Given the description of an element on the screen output the (x, y) to click on. 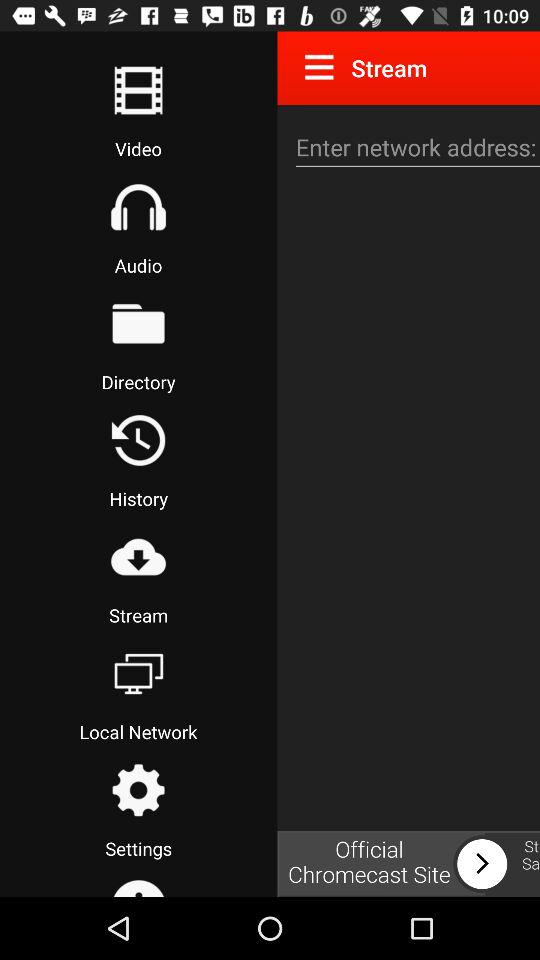
menu option (323, 67)
